Given the description of an element on the screen output the (x, y) to click on. 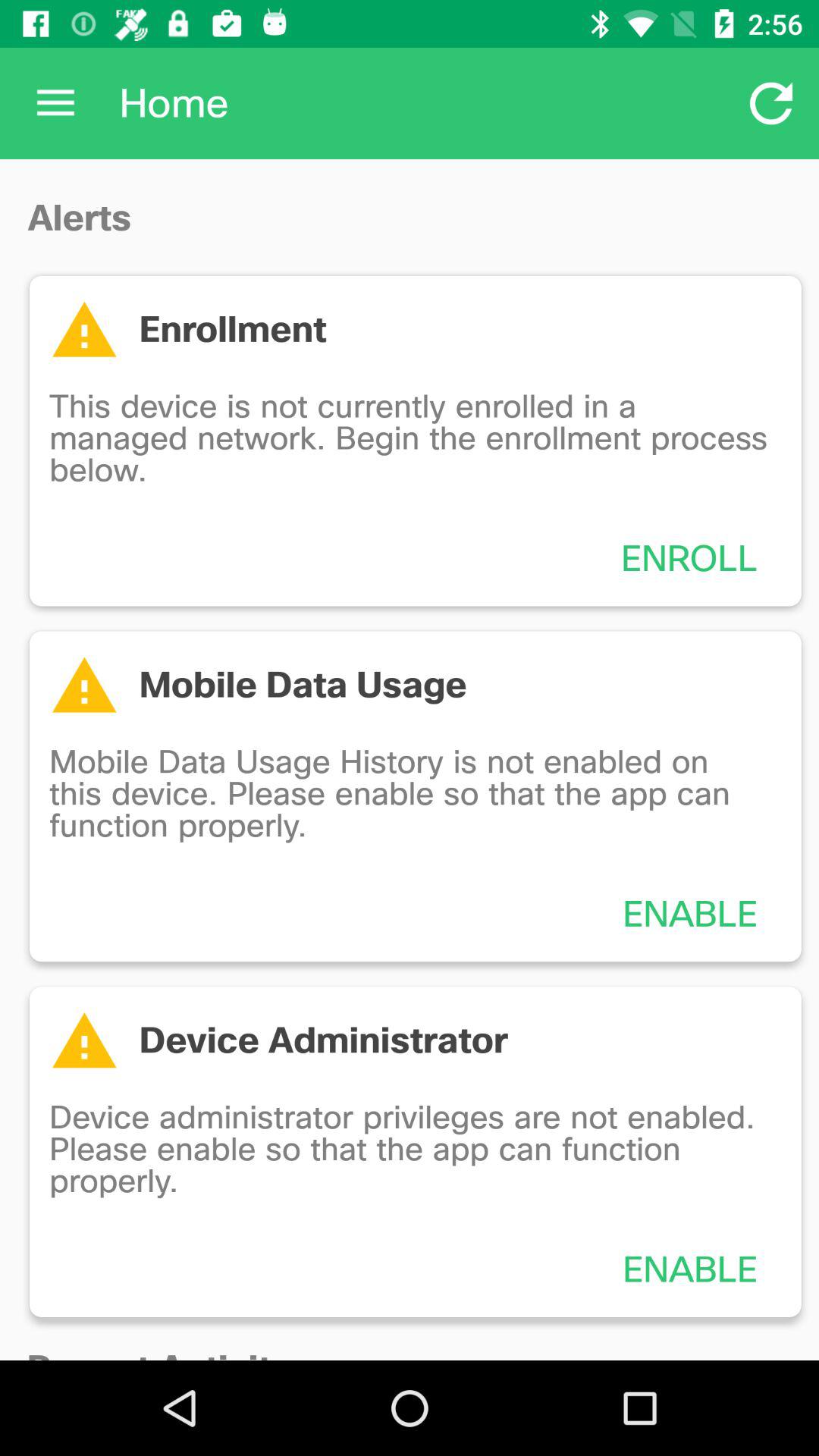
tap the icon below this device is icon (689, 558)
